Given the description of an element on the screen output the (x, y) to click on. 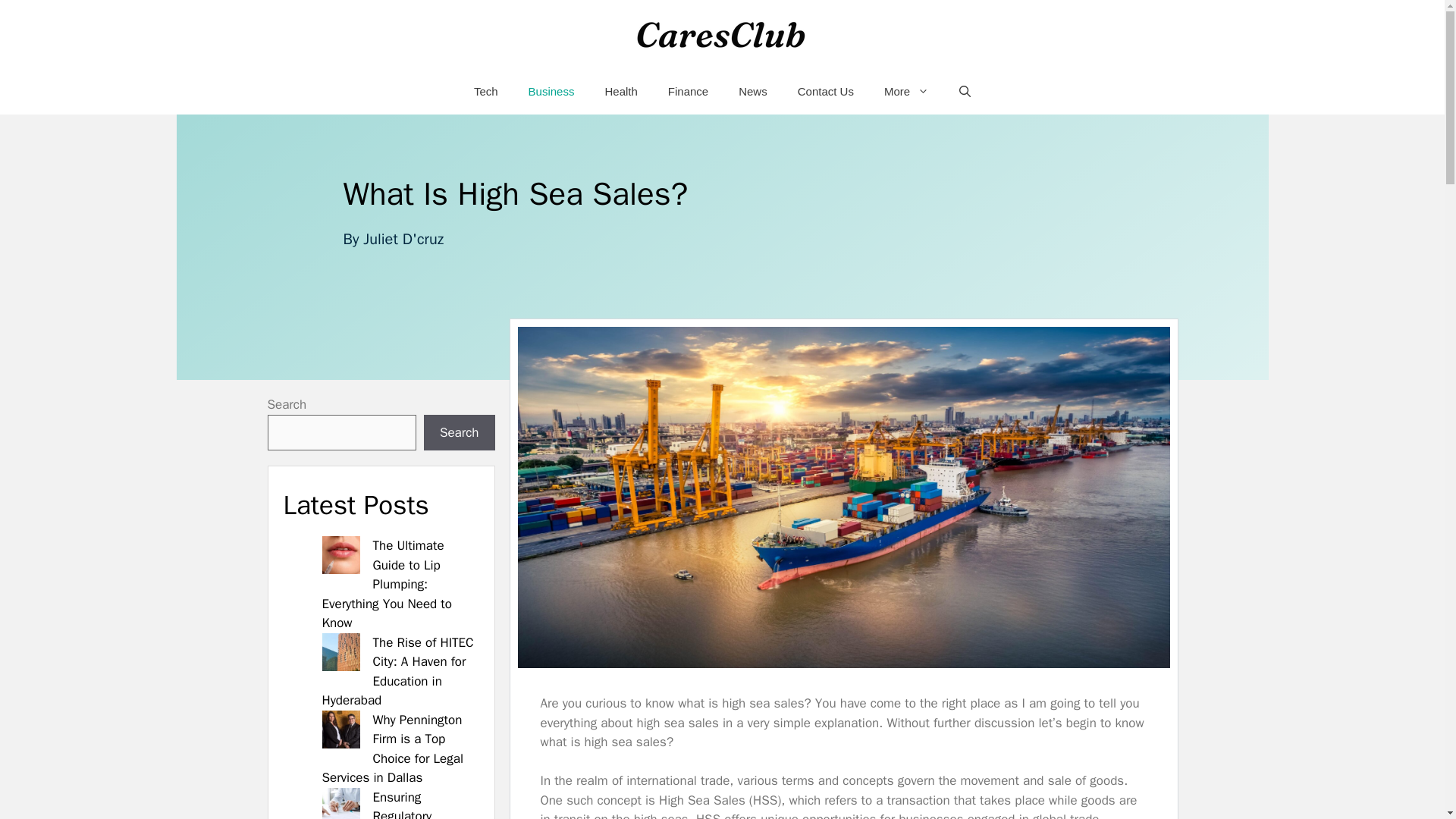
Tech (485, 91)
Business (551, 91)
More (906, 91)
Contact Us (826, 91)
Health (620, 91)
Finance (687, 91)
News (753, 91)
